Given the description of an element on the screen output the (x, y) to click on. 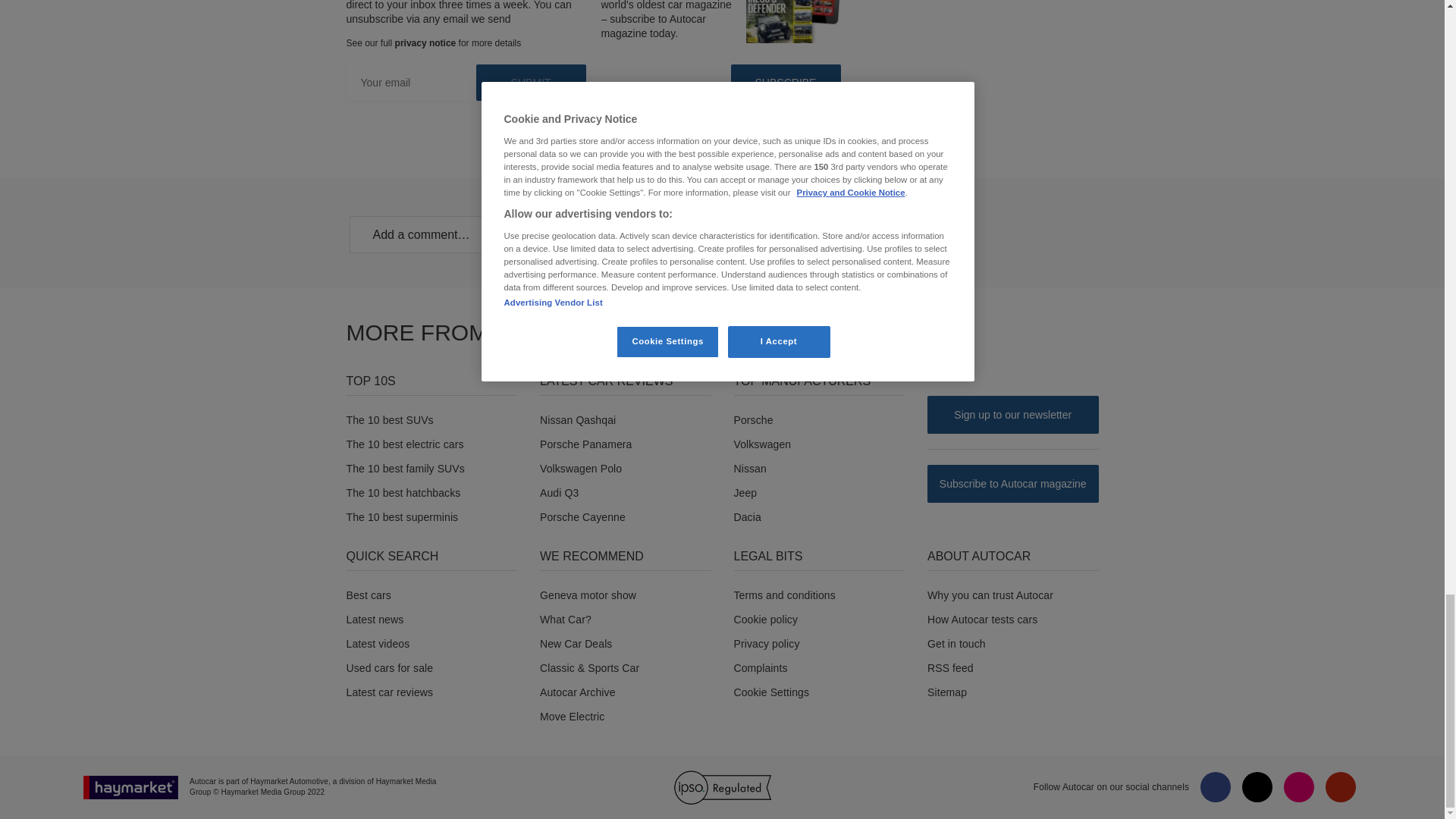
Submit (531, 82)
